Given the description of an element on the screen output the (x, y) to click on. 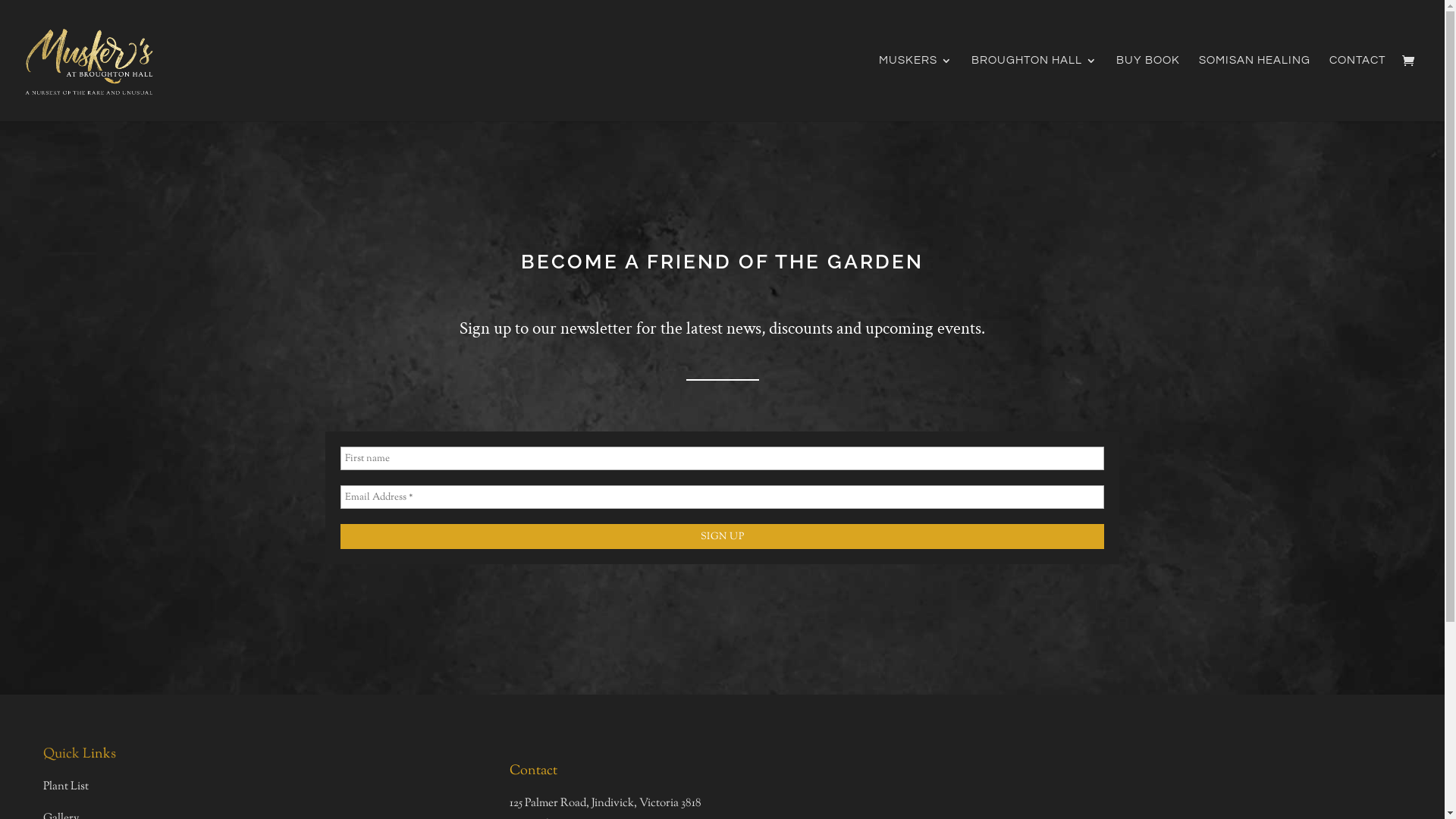
CONTACT Element type: text (1357, 88)
SOMISAN HEALING Element type: text (1254, 88)
MUSKERS Element type: text (915, 88)
BUY BOOK Element type: text (1147, 88)
Plant List Element type: text (65, 785)
BROUGHTON HALL Element type: text (1034, 88)
SIGN UP Element type: text (722, 536)
Email Address Element type: hover (722, 496)
First name Element type: hover (722, 458)
